Given the description of an element on the screen output the (x, y) to click on. 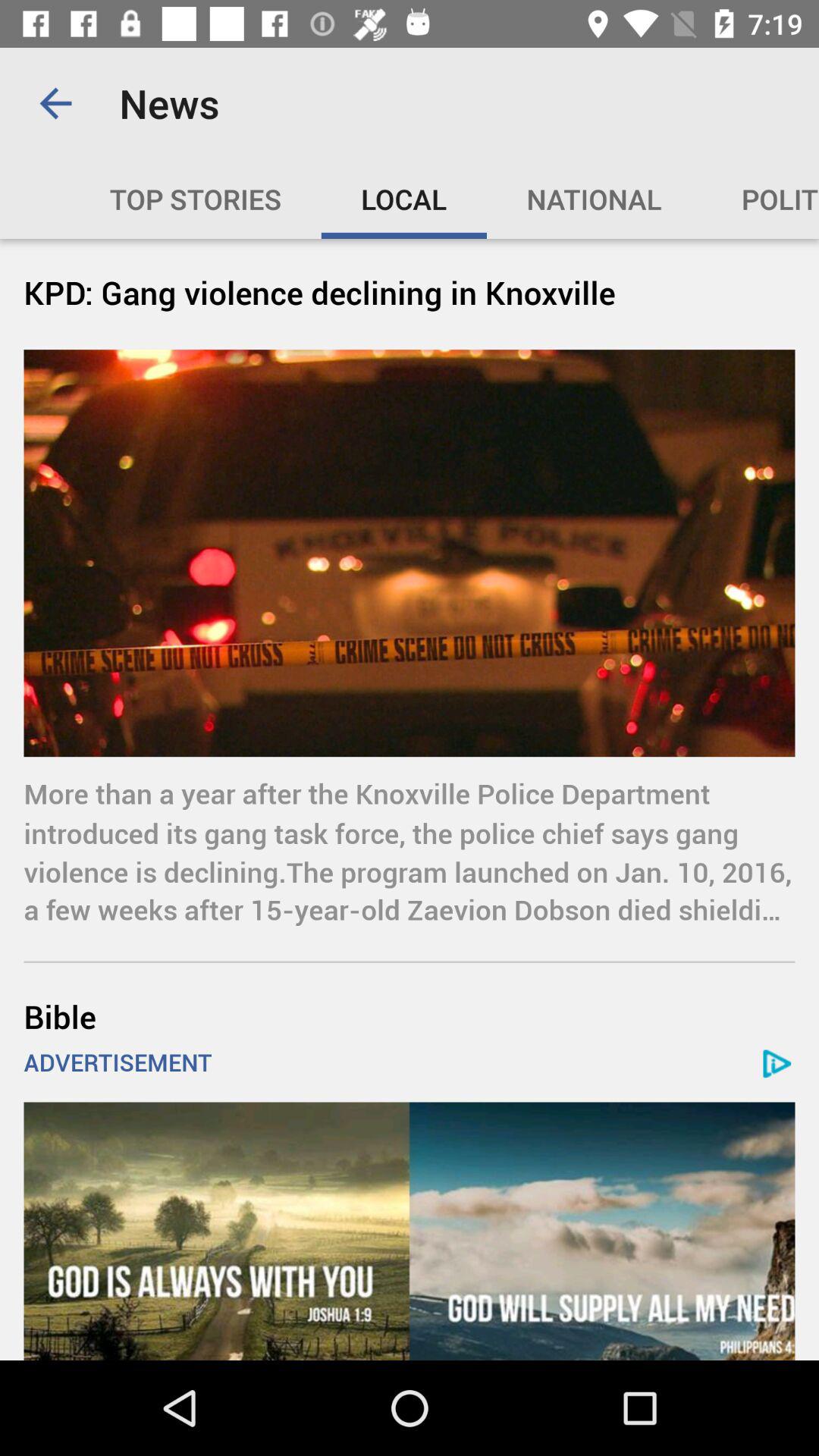
press item above top stories item (55, 103)
